Given the description of an element on the screen output the (x, y) to click on. 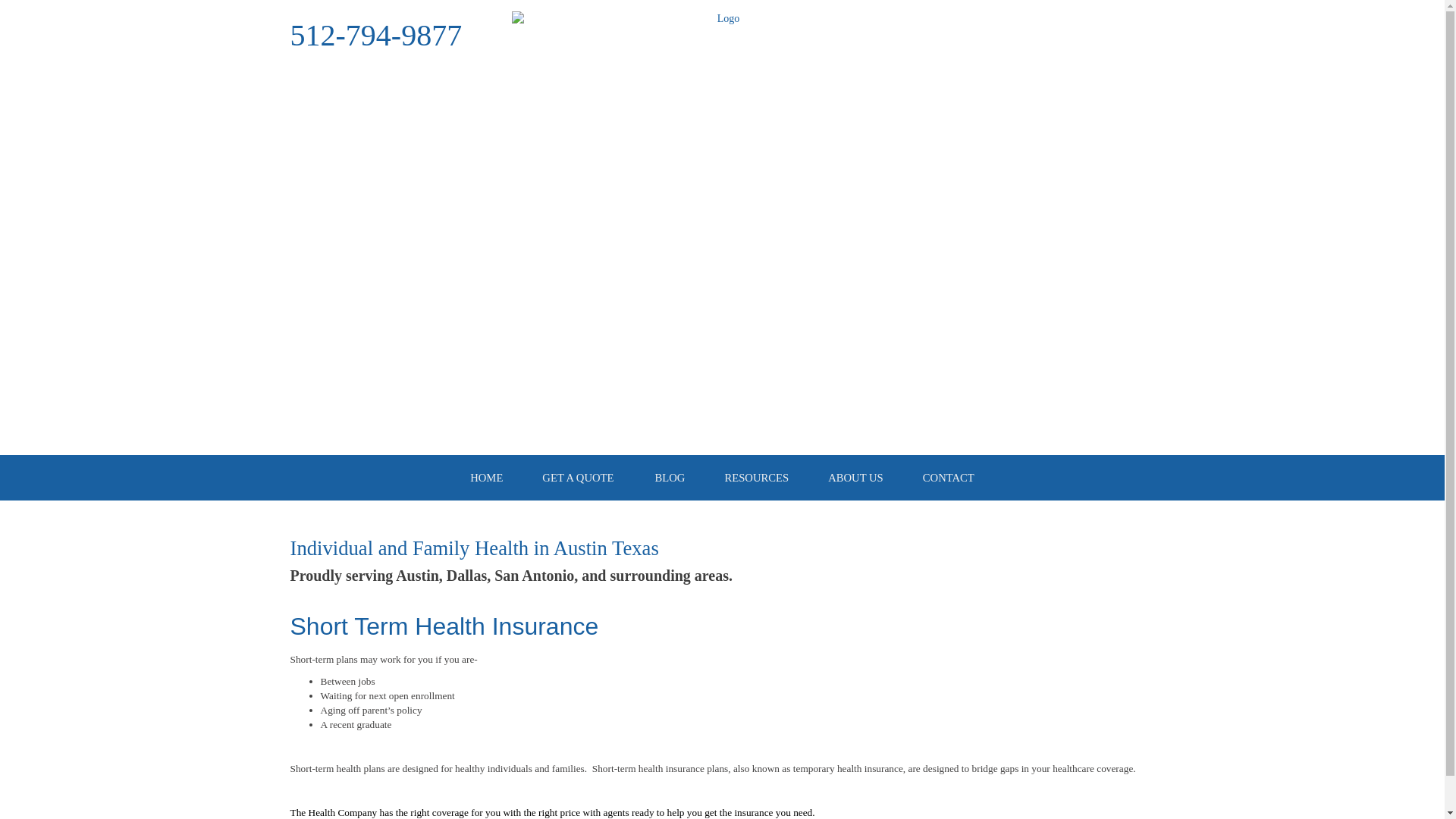
BLOG (670, 477)
CONTACT (948, 477)
Short Term Health Insurance (443, 625)
HOME (486, 477)
Short-Term Health Insurance Quote (443, 625)
512-794-9877 (375, 35)
GET A QUOTE (576, 477)
ABOUT US (855, 477)
RESOURCES (756, 477)
